Given the description of an element on the screen output the (x, y) to click on. 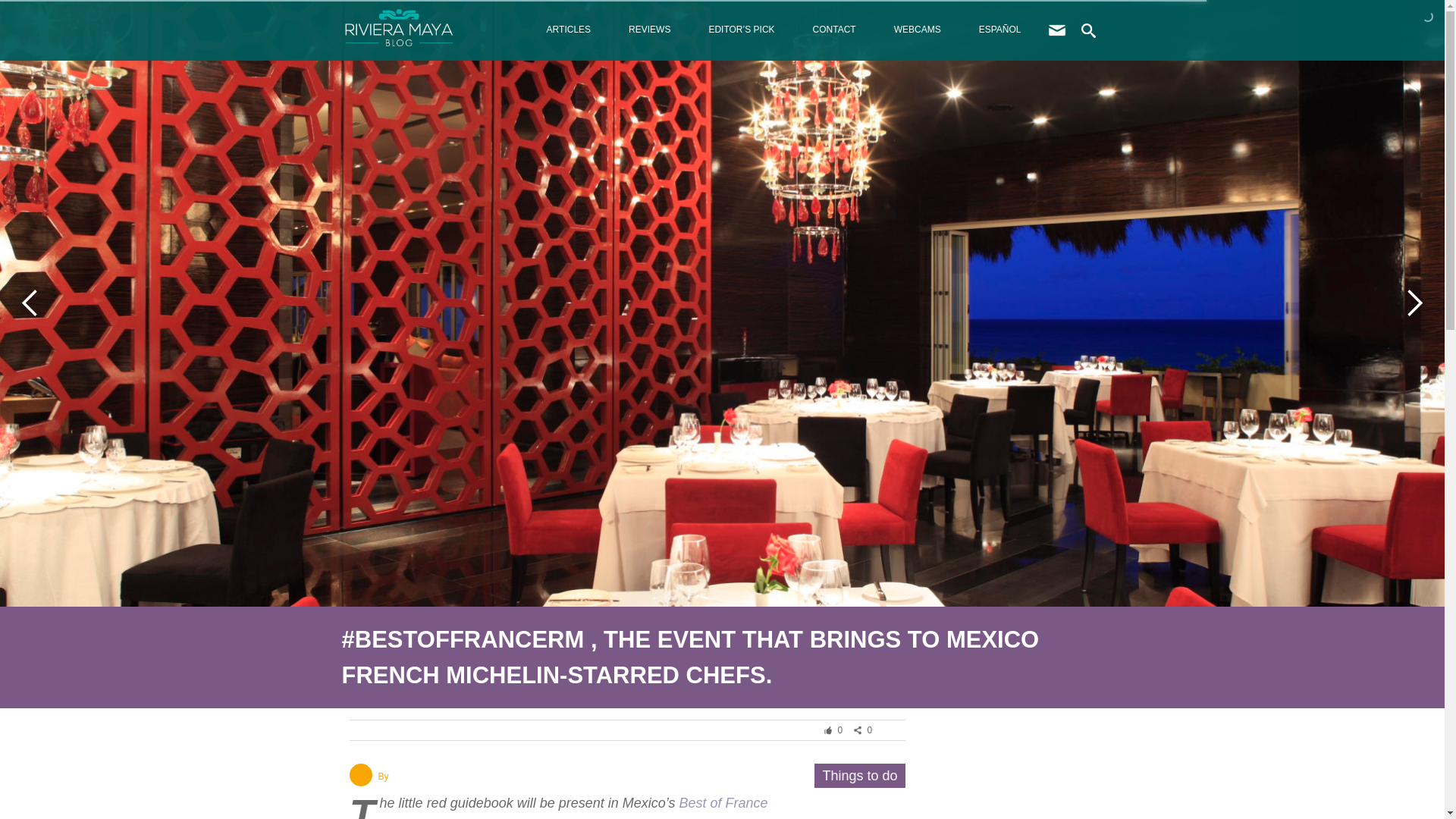
0 (837, 729)
0 (866, 729)
WEBCAMS (917, 29)
Things to do (859, 775)
Best of France (722, 802)
ARTICLES (568, 29)
REVIEWS (649, 29)
By (382, 776)
CONTACT (834, 29)
